Given the description of an element on the screen output the (x, y) to click on. 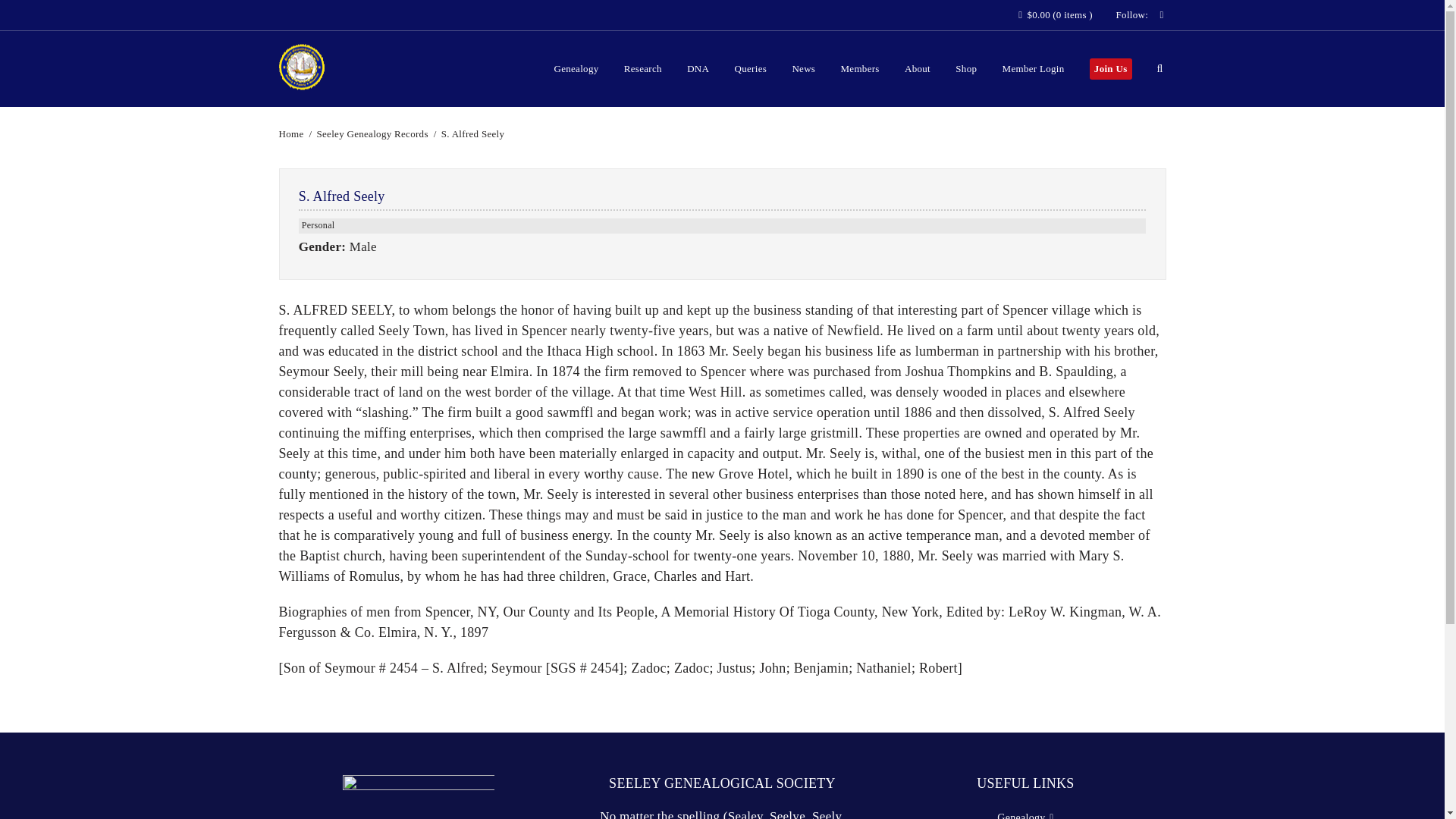
Join Us (1110, 68)
DNA (698, 68)
Member Login (1033, 68)
News (803, 68)
Members (860, 68)
Genealogy (575, 68)
Shop (965, 68)
About (917, 68)
Research (643, 68)
View your shopping cart (1055, 14)
